Given the description of an element on the screen output the (x, y) to click on. 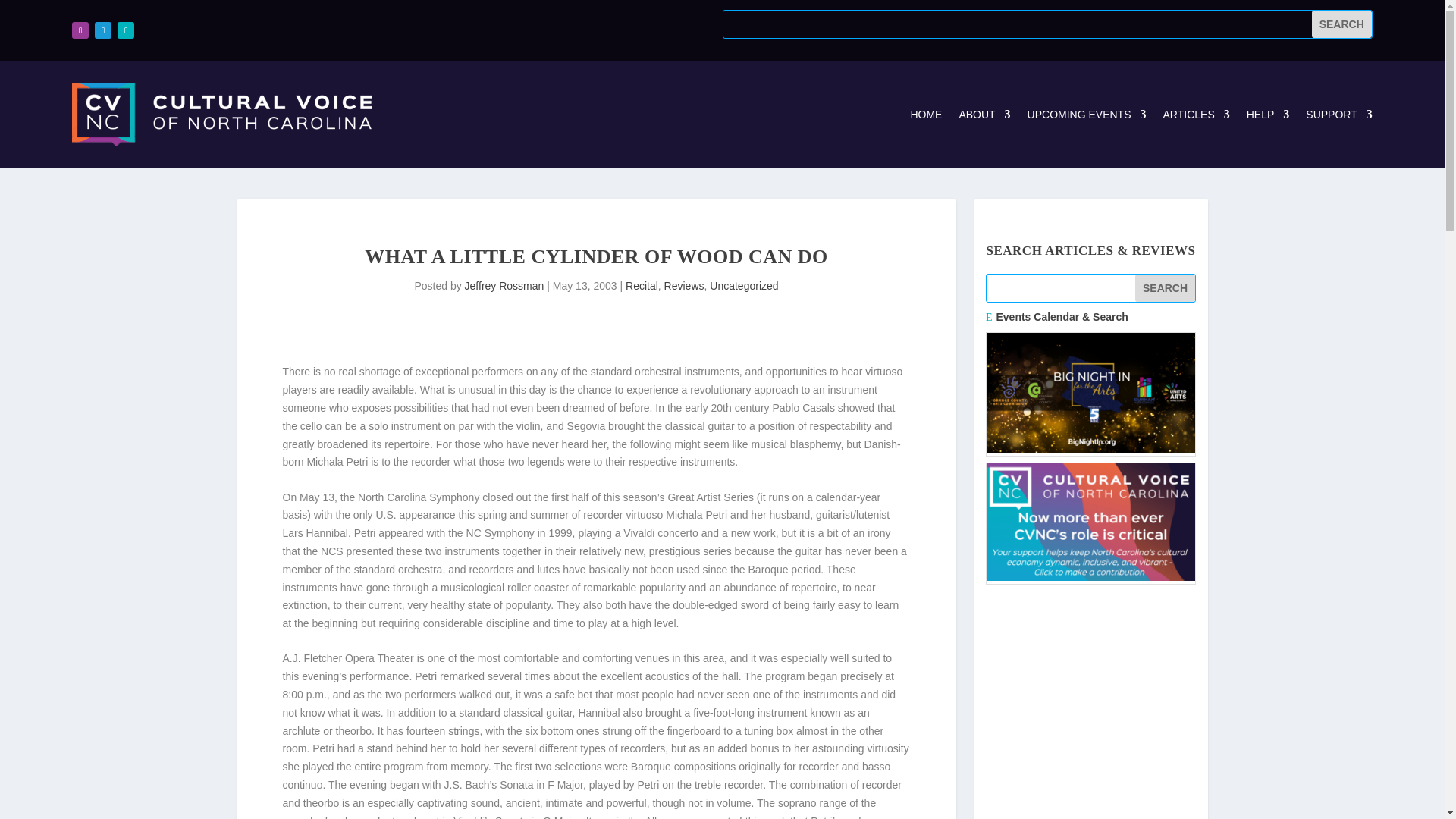
Posts by Jeffrey Rossman (504, 285)
Follow on X (103, 30)
Search (1165, 288)
Follow on LinkedIn (125, 30)
SUPPORT (1338, 114)
Search (1165, 288)
ARTICLES (1196, 114)
Search (1341, 23)
Search (1341, 23)
Search (1341, 23)
